Given the description of an element on the screen output the (x, y) to click on. 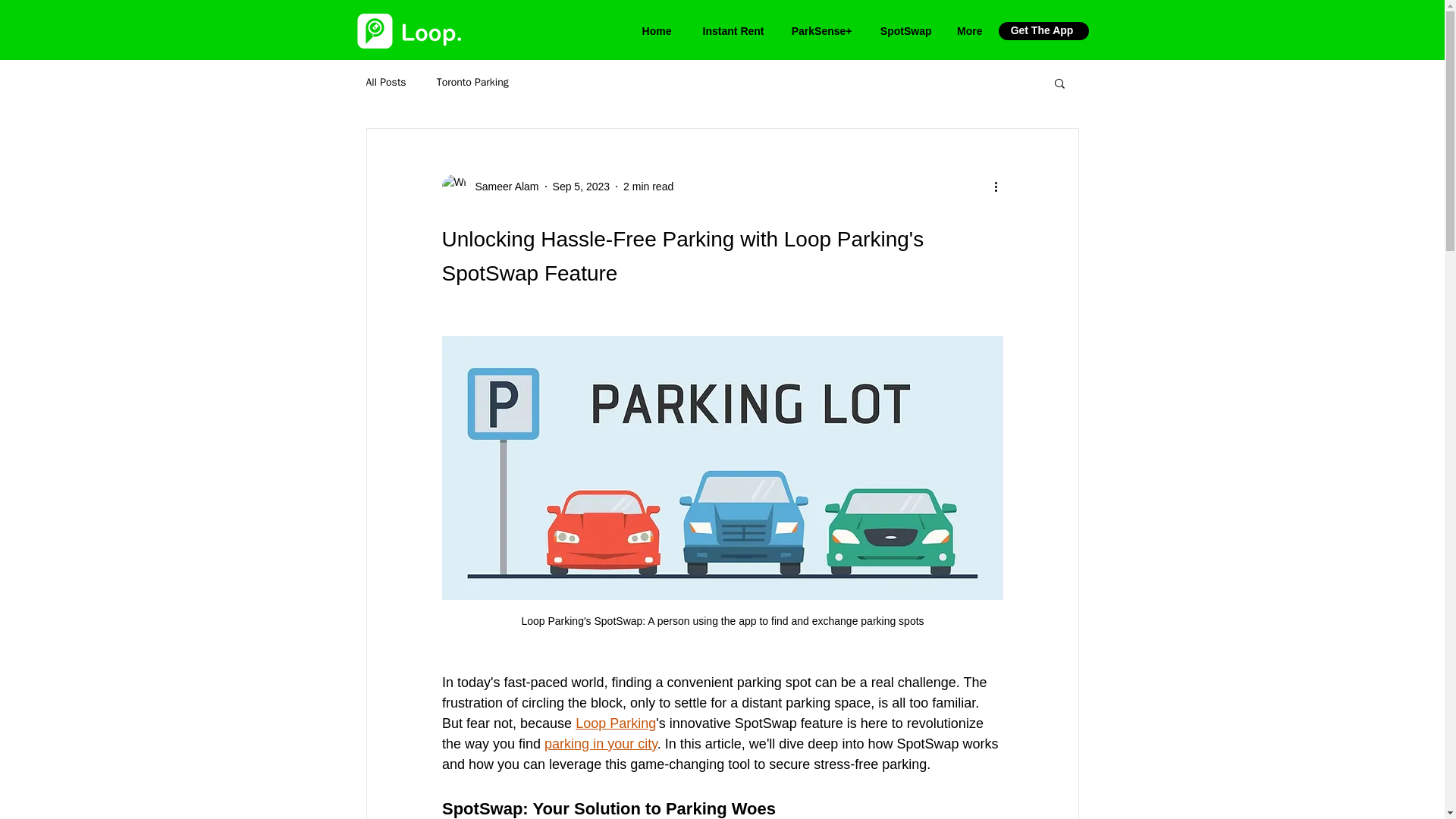
SpotSwap (902, 31)
All Posts (385, 82)
Get The App (1042, 31)
Loop Parking (615, 723)
Home (654, 31)
parking in your city (601, 743)
Sameer Alam (489, 186)
Sameer Alam (501, 186)
2 min read (647, 186)
Toronto Parking (472, 82)
Instant Rent (728, 31)
Sep 5, 2023 (581, 186)
